Given the description of an element on the screen output the (x, y) to click on. 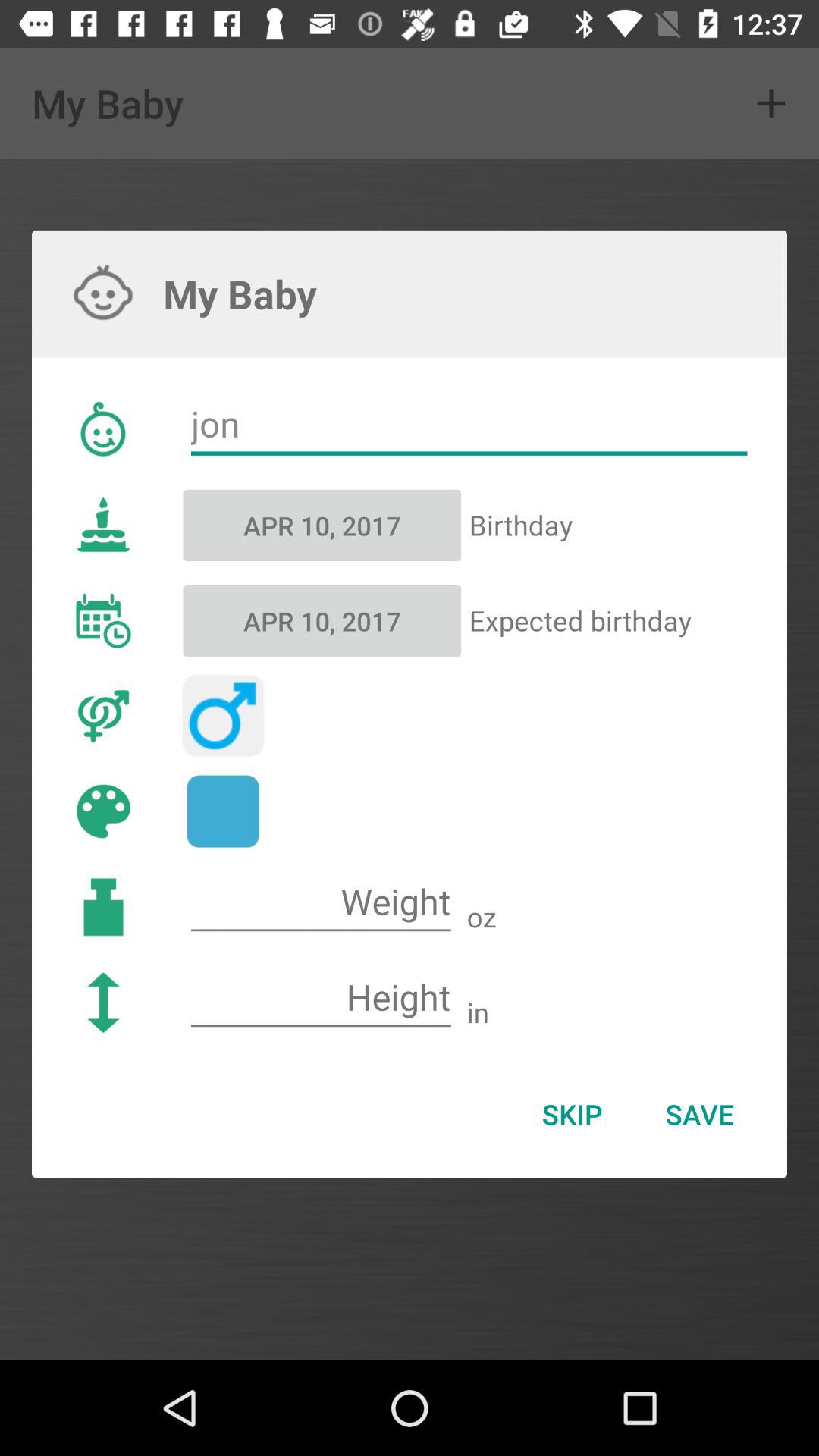
open icon below in icon (571, 1113)
